Given the description of an element on the screen output the (x, y) to click on. 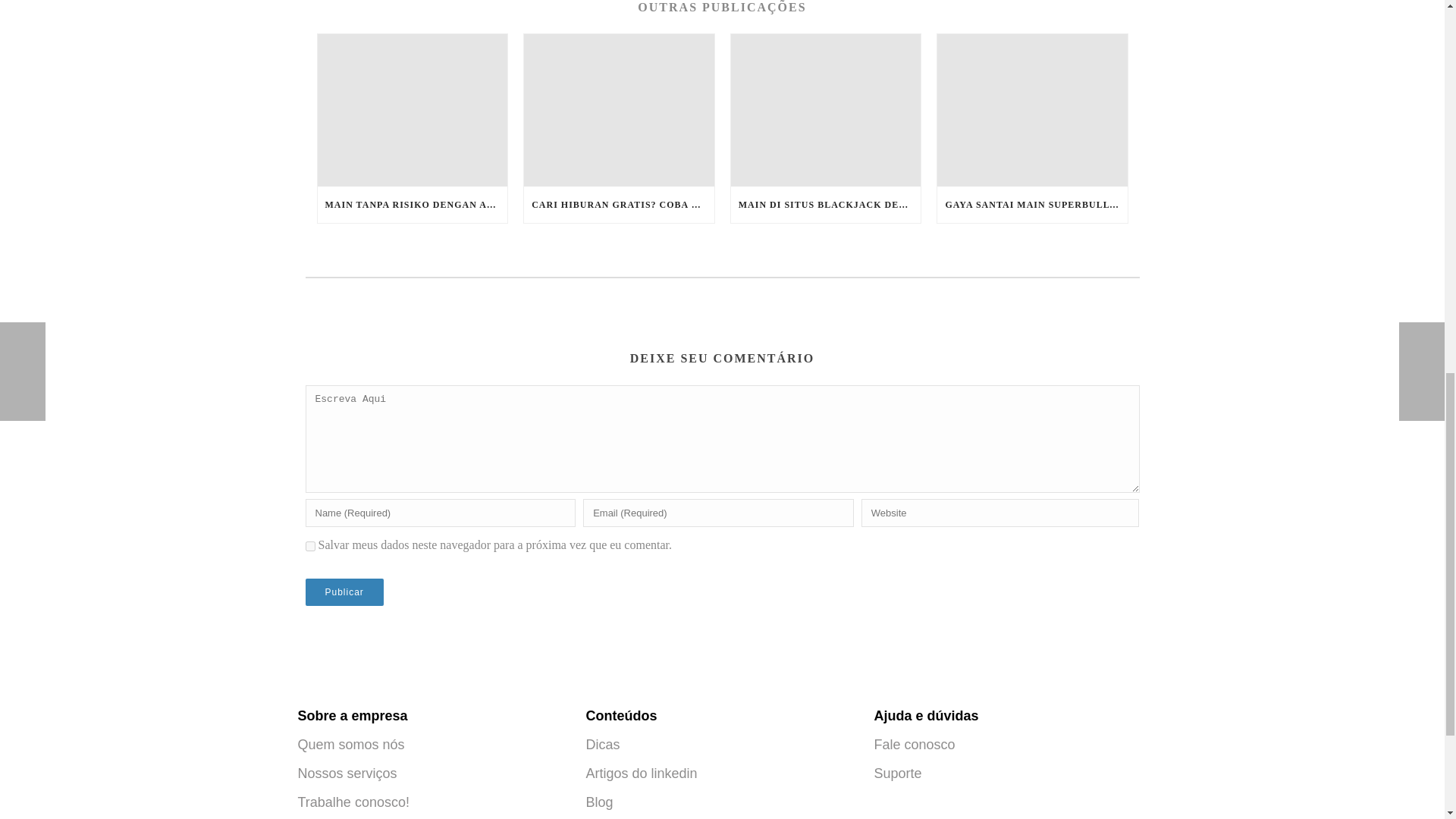
Publicar (343, 592)
Gaya Santai Main Superbull Online Tanpa Rugi (1031, 110)
CARI HIBURAN GRATIS? COBA MAIN SLOT DEMO MAHJONG! (619, 204)
yes (309, 546)
Cari Hiburan Gratis? Coba Main Slot Demo Mahjong! (619, 110)
